Given the description of an element on the screen output the (x, y) to click on. 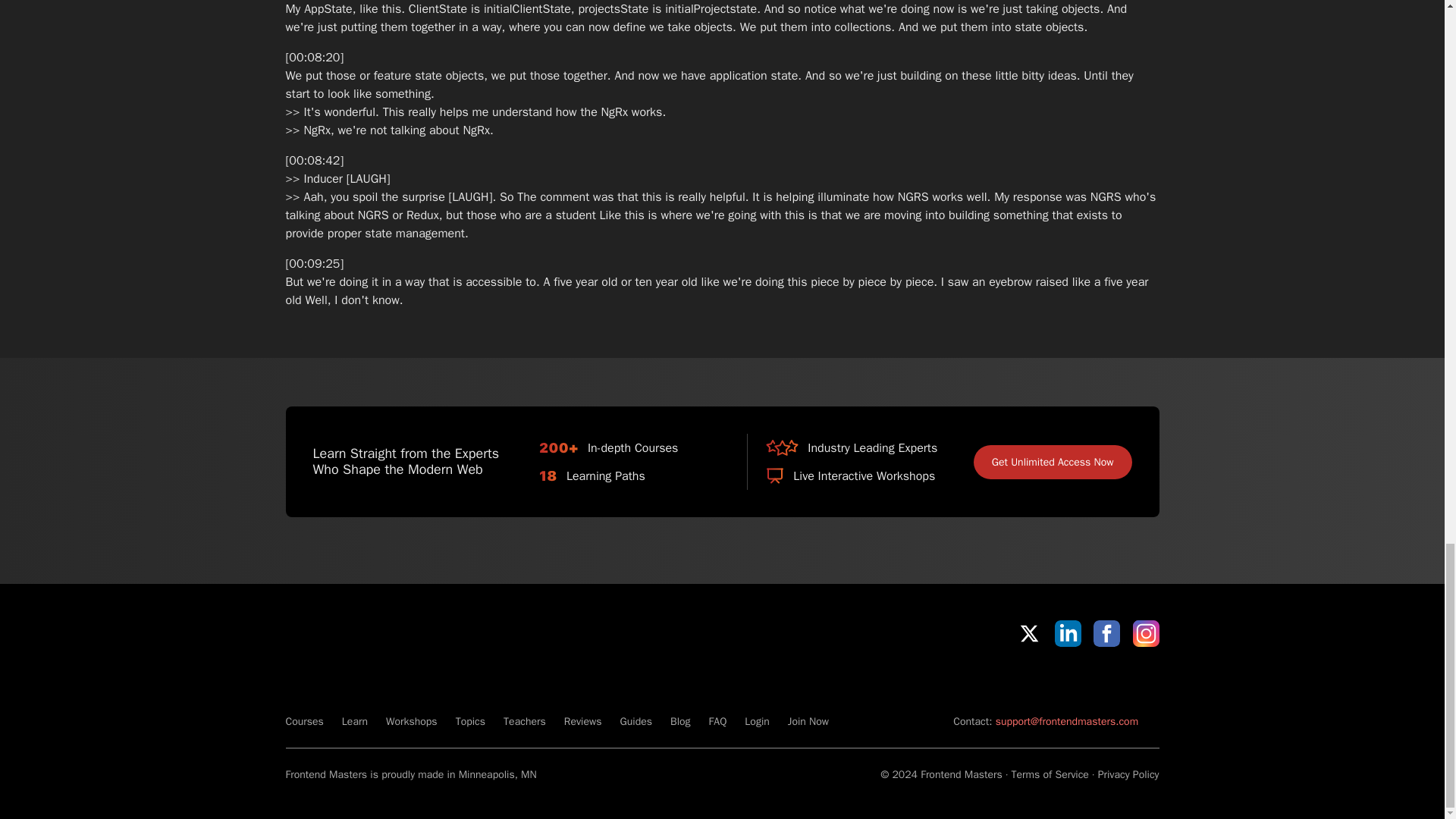
Learn (355, 721)
FAQ (717, 721)
Courses (304, 721)
Google App Store (1107, 680)
Get Unlimited Access Now (1053, 462)
Instagram (1145, 633)
Topics (469, 721)
Apple App Store (998, 680)
Reviews (583, 721)
FrontendMasters (364, 682)
